Given the description of an element on the screen output the (x, y) to click on. 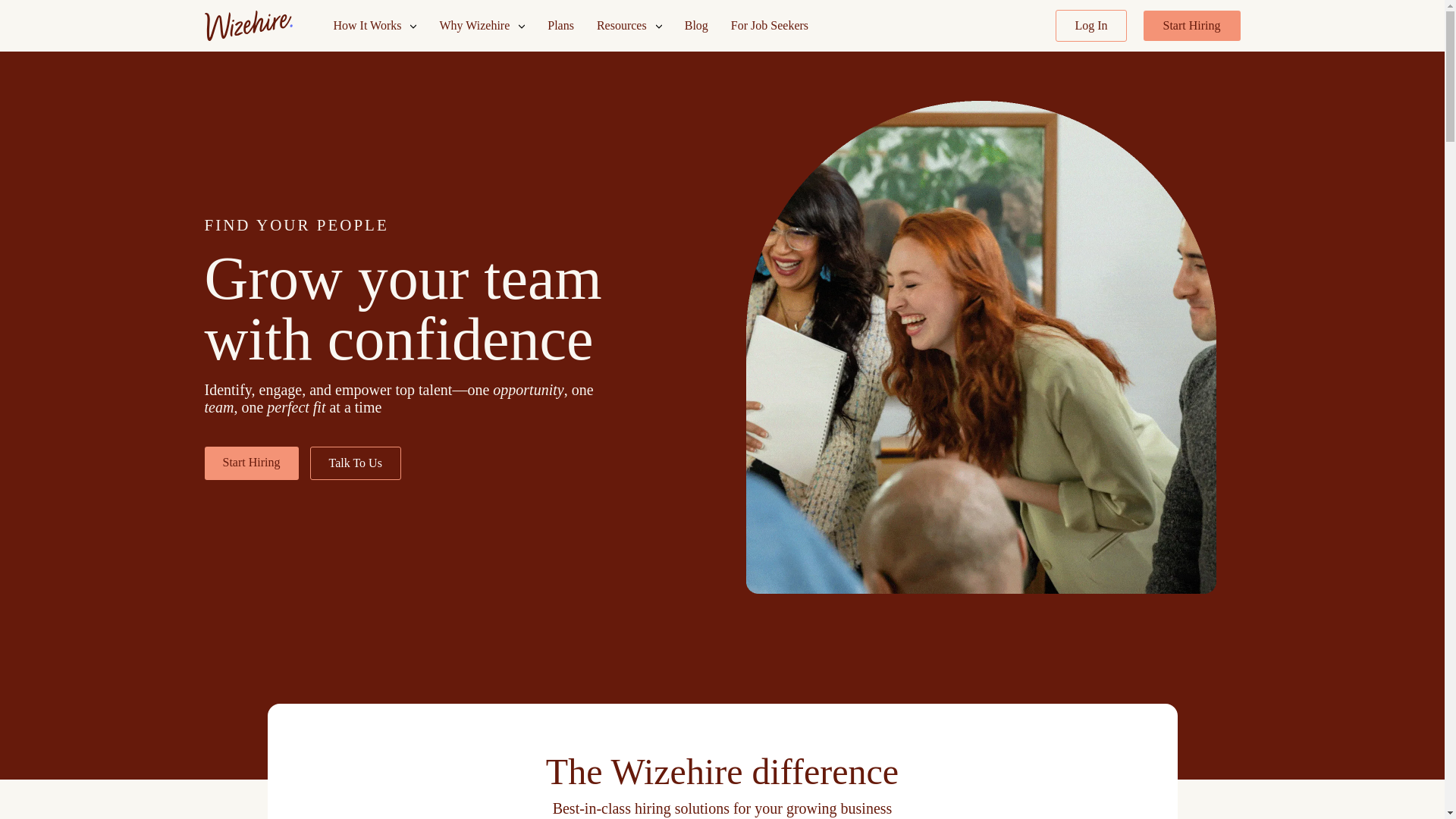
Resources (629, 25)
Plans (560, 25)
How It Works (374, 25)
Why Wizehire (481, 25)
